Given the description of an element on the screen output the (x, y) to click on. 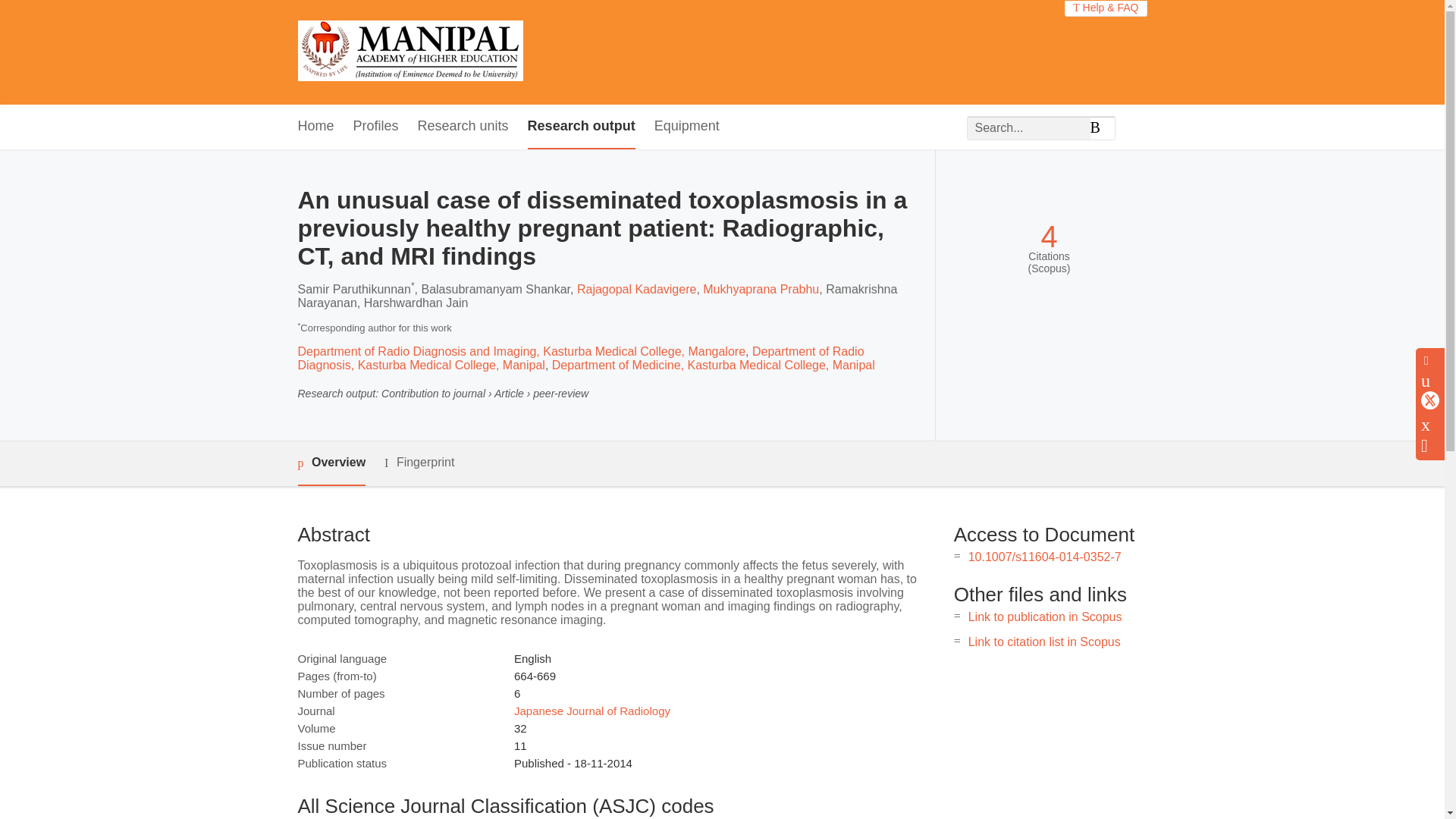
Department of Medicine, Kasturba Medical College, Manipal (713, 364)
Link to citation list in Scopus (1044, 641)
Research units (462, 126)
Equipment (686, 126)
Fingerprint (419, 462)
Manipal Academy of Higher Education, Manipal, India Home (409, 52)
Rajagopal Kadavigere (635, 288)
